Given the description of an element on the screen output the (x, y) to click on. 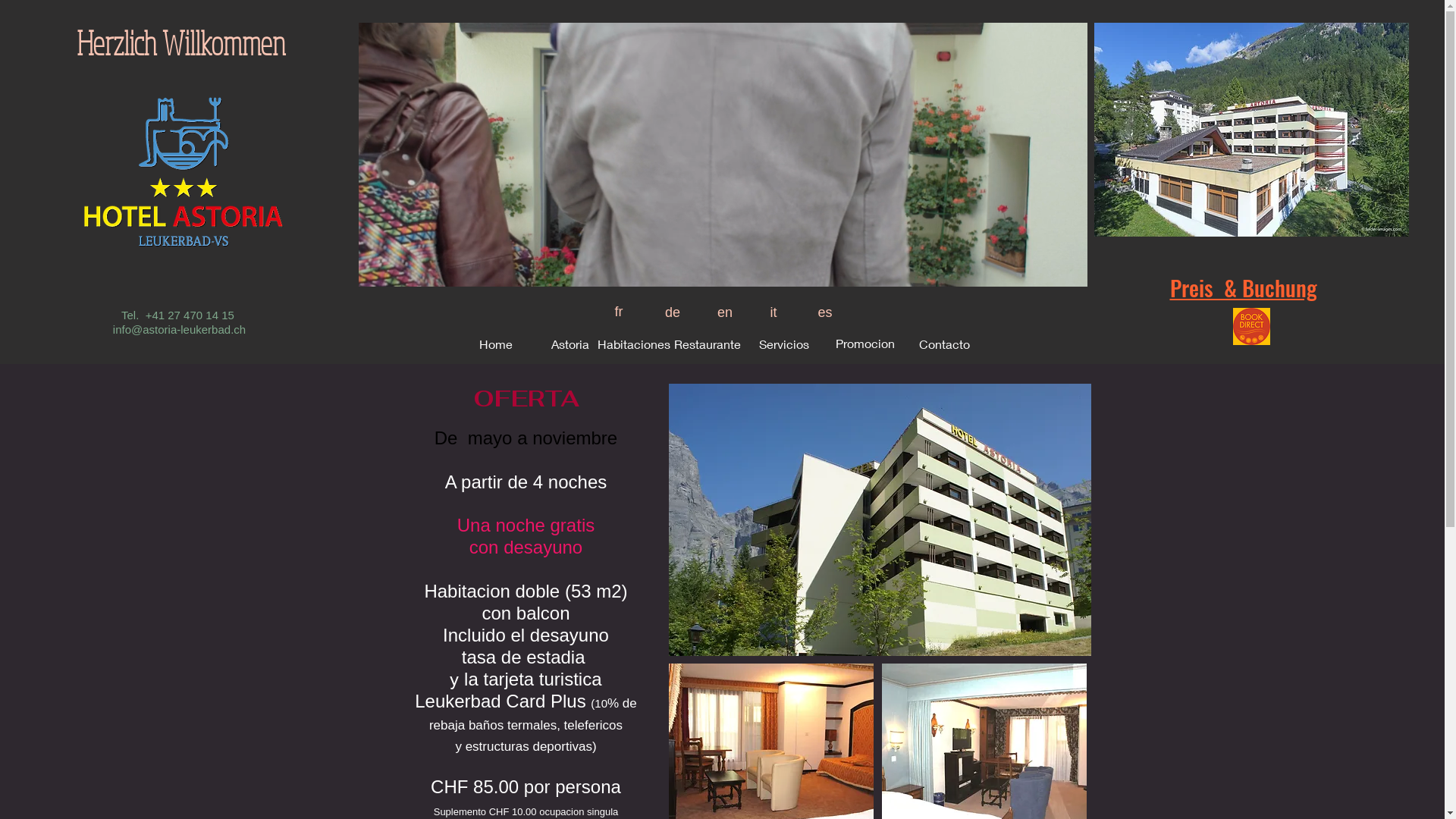
Habitaciones Element type: text (633, 343)
info@astoria-leukerbad.ch Element type: text (178, 329)
Promocion Element type: text (865, 343)
Servicios Element type: text (784, 343)
fr Element type: text (618, 311)
Restaurante Element type: text (707, 343)
Contacto Element type: text (944, 343)
Astoria Element type: text (569, 343)
Preis  & Buchung Element type: text (1242, 289)
Hotel Astoria Leukerba Element type: hover (879, 519)
it Element type: text (772, 312)
es Element type: text (824, 312)
Home Element type: text (495, 343)
en Element type: text (724, 312)
de Element type: text (672, 312)
